Given the description of an element on the screen output the (x, y) to click on. 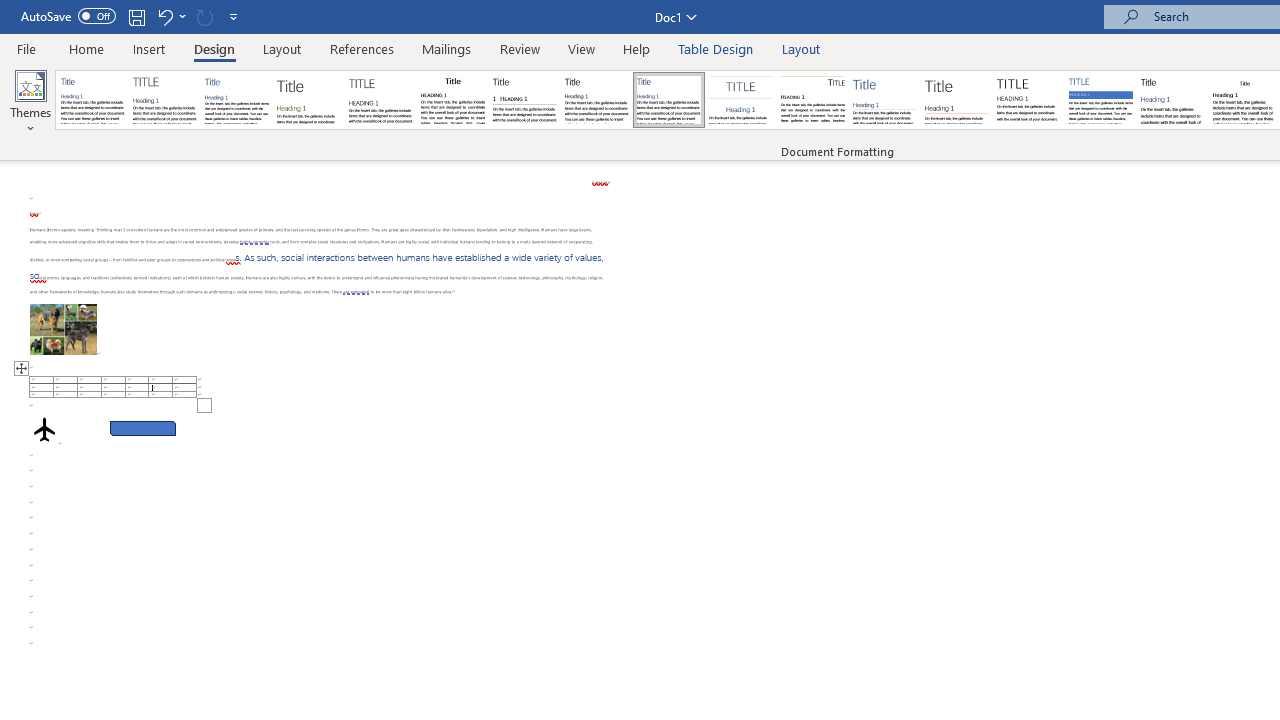
Lines (Simple) (884, 100)
Black & White (Numbered) (524, 100)
Basic (Stylish) (308, 100)
Can't Repeat (204, 15)
Casual (669, 100)
Basic (Elegant) (164, 100)
Undo Apply Quick Style Set (170, 15)
